Given the description of an element on the screen output the (x, y) to click on. 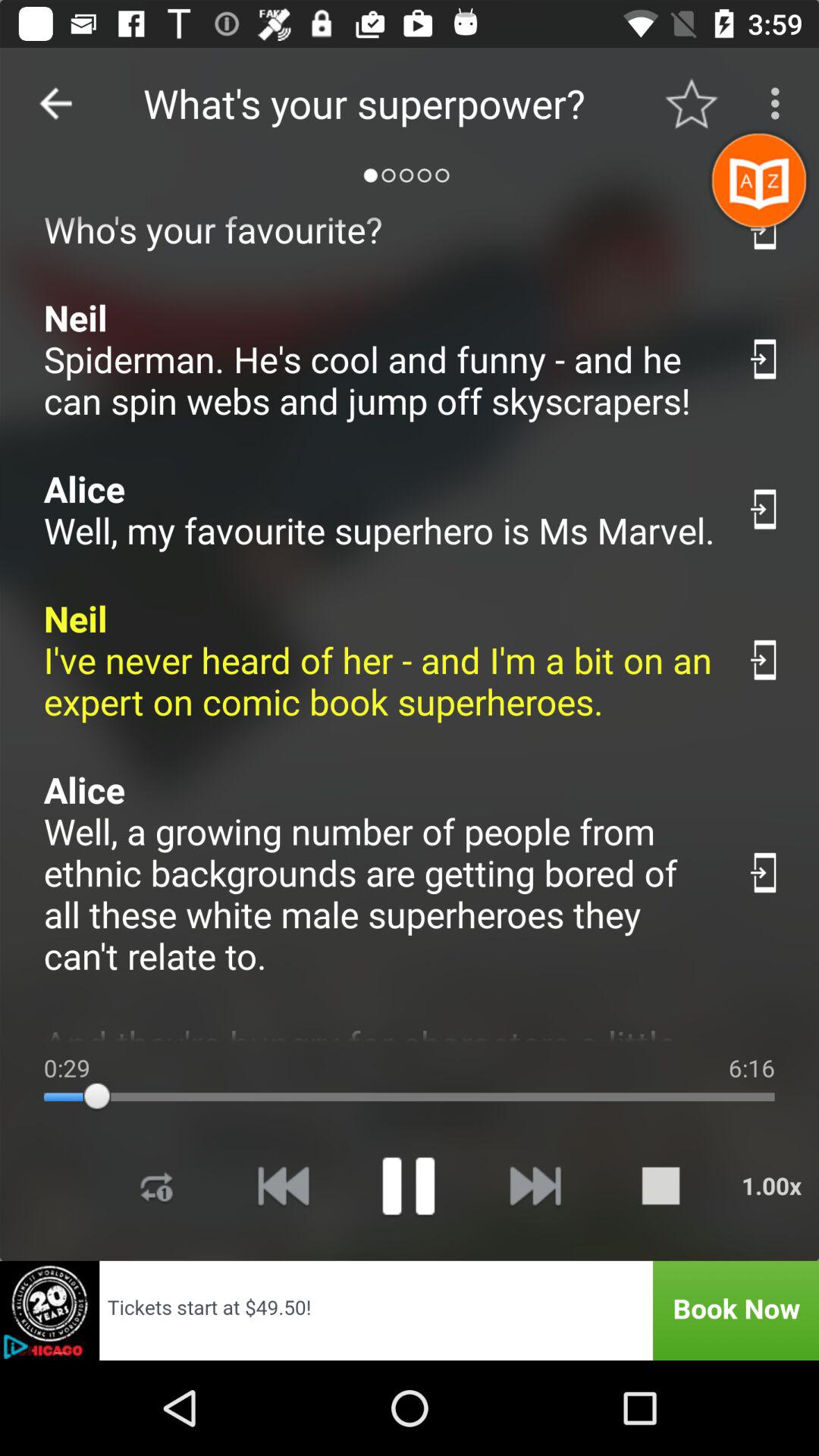
open advertisement banner (409, 1310)
